Given the description of an element on the screen output the (x, y) to click on. 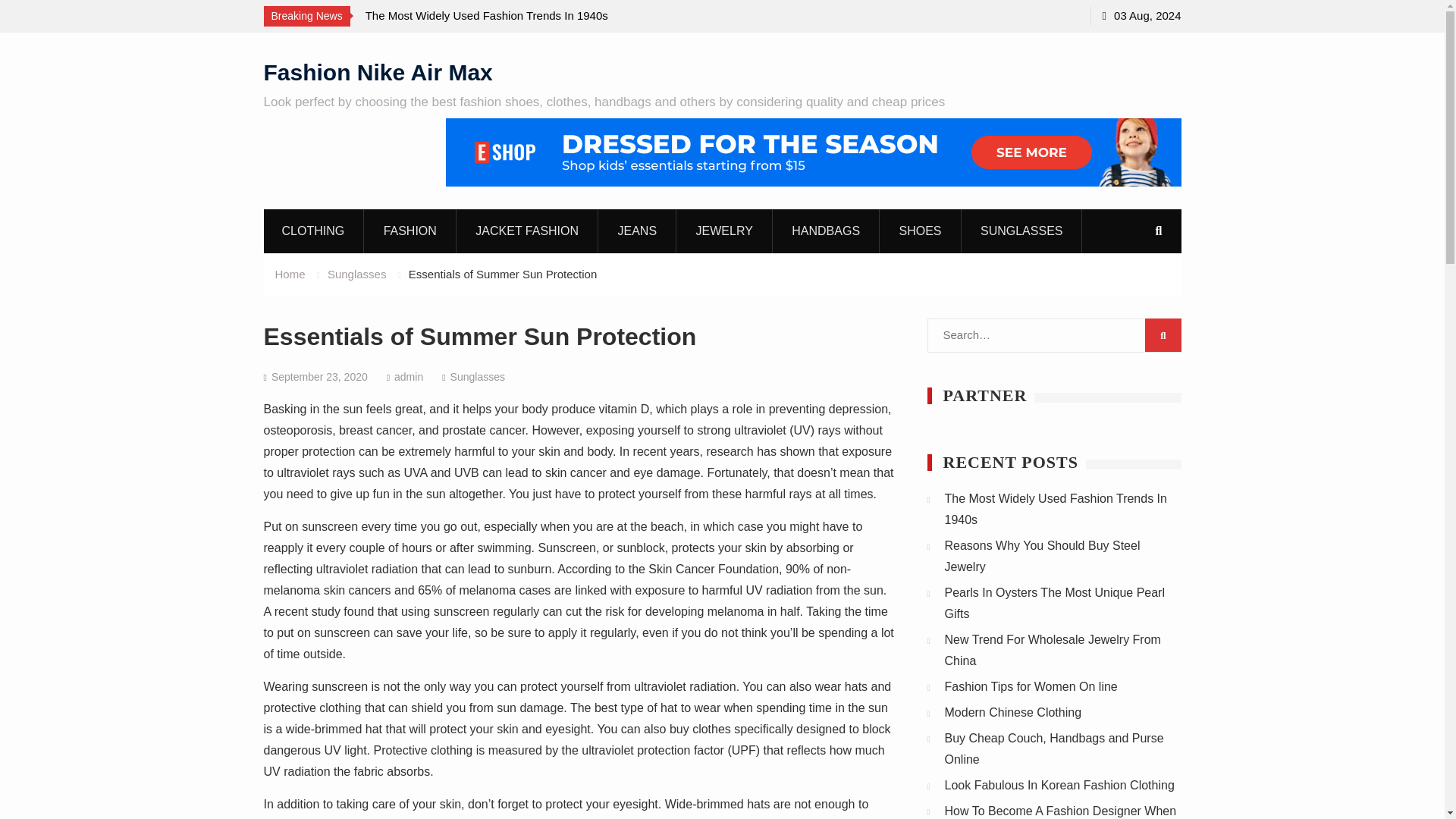
admin (408, 377)
Fashion Nike Air Max (378, 71)
JACKET FASHION (527, 231)
SUNGLASSES (1020, 231)
Pearls In Oysters The Most Unique Pearl Gifts (1055, 602)
FASHION (411, 231)
Home (289, 273)
CLOTHING (313, 231)
JEWELRY (725, 231)
JEANS (637, 231)
Reasons Why You Should Buy Steel Jewelry (1042, 555)
Sunglasses (477, 377)
Sunglasses (357, 273)
September 23, 2020 (319, 377)
HANDBAGS (826, 231)
